Given the description of an element on the screen output the (x, y) to click on. 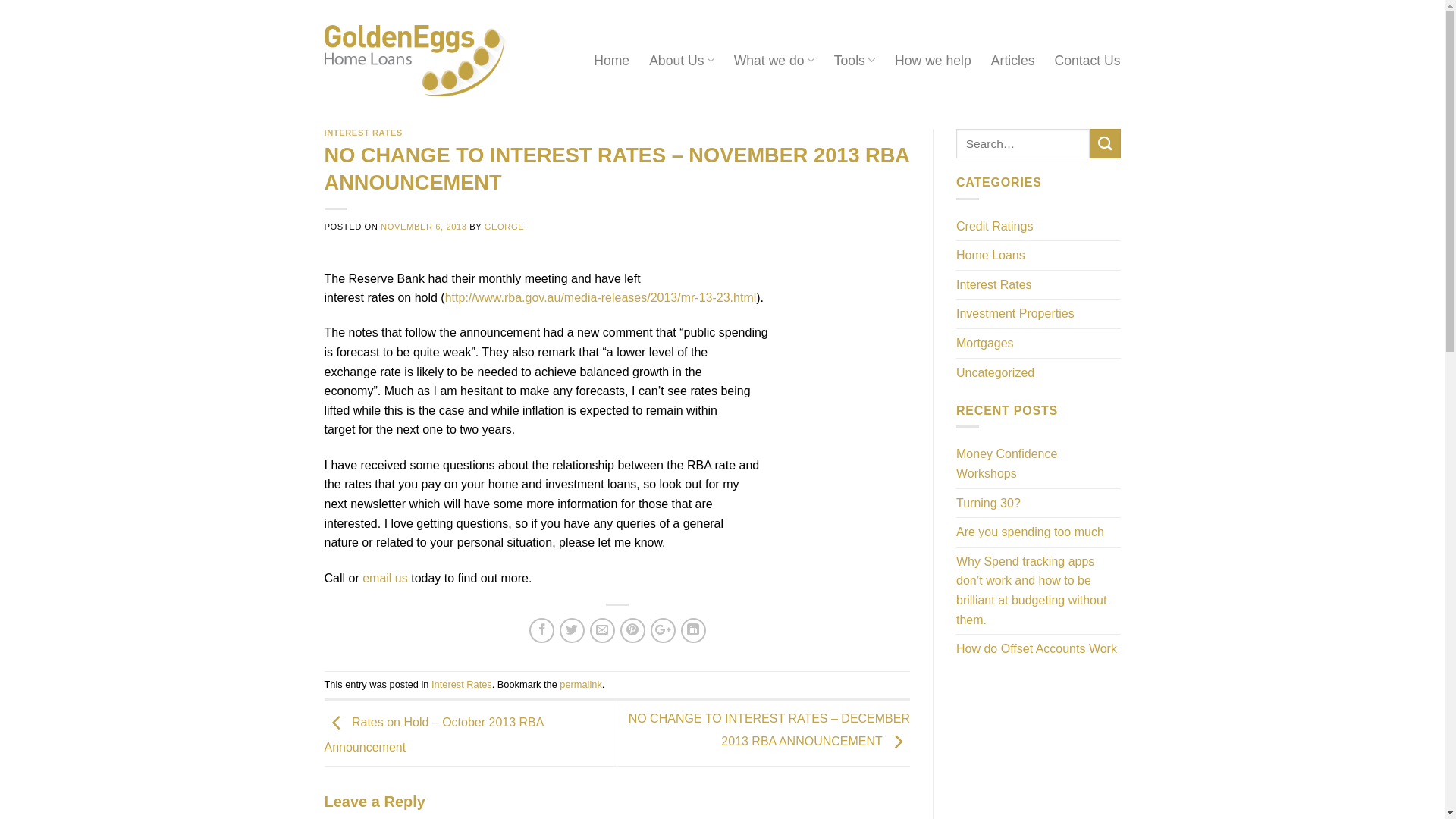
Interest Rates Element type: text (461, 684)
What we do Element type: text (774, 60)
Articles Element type: text (1013, 60)
Uncategorized Element type: text (995, 372)
Contact Us Element type: text (1087, 60)
Are you spending too much Element type: text (1030, 531)
Home Loans Element type: text (990, 255)
Investment Properties Element type: text (1015, 313)
Money Confidence Workshops Element type: text (1038, 463)
Home Element type: text (611, 60)
Golden Eggs Home Loans - Home Loan Experts Element type: hover (417, 60)
permalink Element type: text (580, 684)
GEORGE Element type: text (504, 226)
Turning 30? Element type: text (988, 503)
About Us Element type: text (681, 60)
email us Element type: text (384, 577)
NOVEMBER 6, 2013 Element type: text (423, 226)
How do Offset Accounts Work Element type: text (1036, 648)
Interest Rates Element type: text (994, 284)
http://www.rba.gov.au/media-releases/2013/mr-13-23.html Element type: text (600, 297)
Tools Element type: text (854, 60)
How we help Element type: text (932, 60)
Mortgages Element type: text (984, 343)
Credit Ratings Element type: text (994, 226)
INTEREST RATES Element type: text (363, 132)
